Given the description of an element on the screen output the (x, y) to click on. 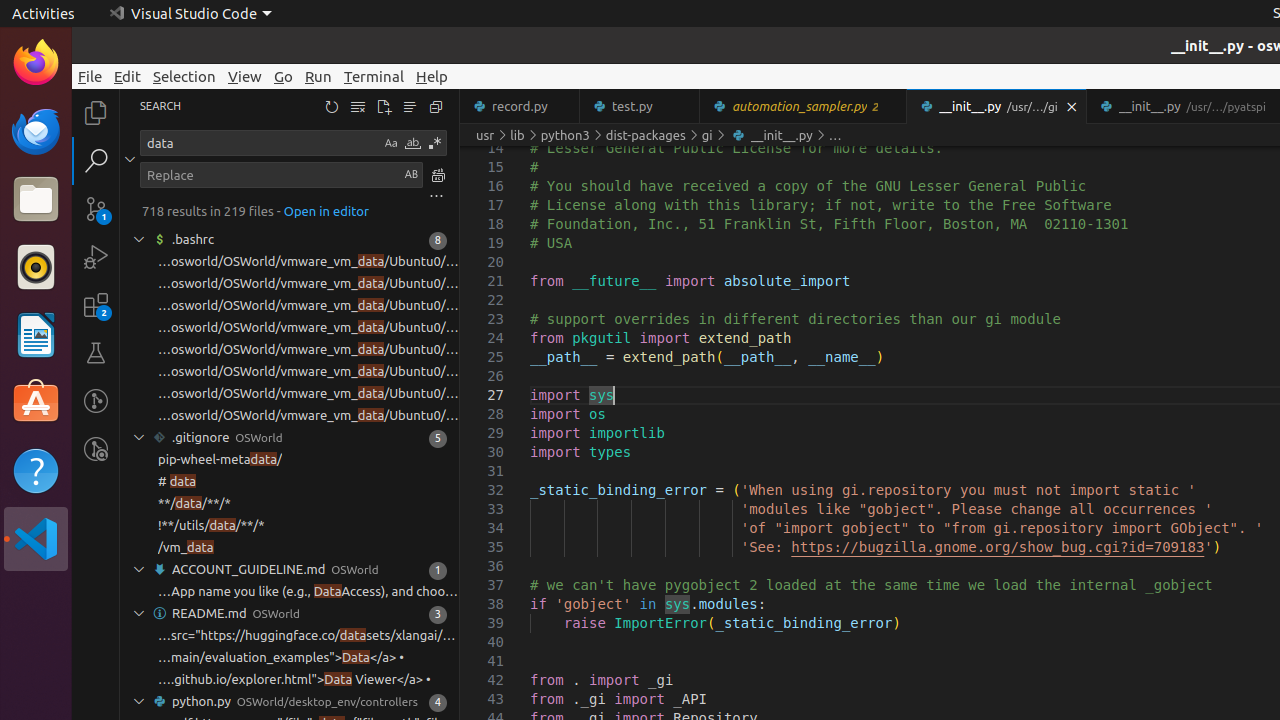
View as Tree Element type: push-button (410, 106)
'!**/utils/data/**/*' at column 11 found data Element type: tree-item (289, 525)
Run Element type: push-button (318, 76)
